Given the description of an element on the screen output the (x, y) to click on. 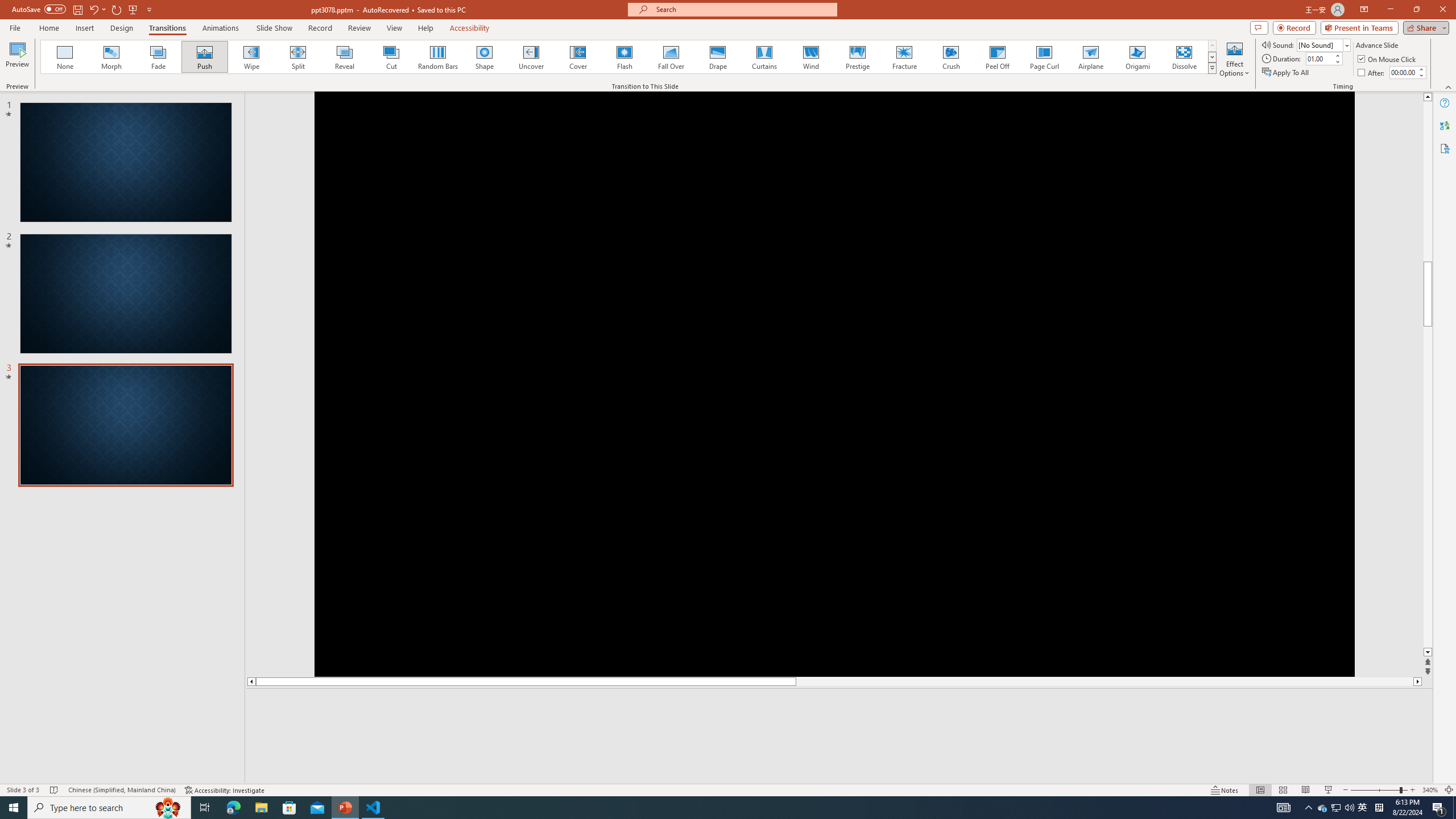
Effect Options (1234, 58)
After (1372, 72)
Transition Effects (1212, 67)
Origami (1136, 56)
Dissolve (1183, 56)
Line up (1427, 96)
Preview (17, 58)
